Given the description of an element on the screen output the (x, y) to click on. 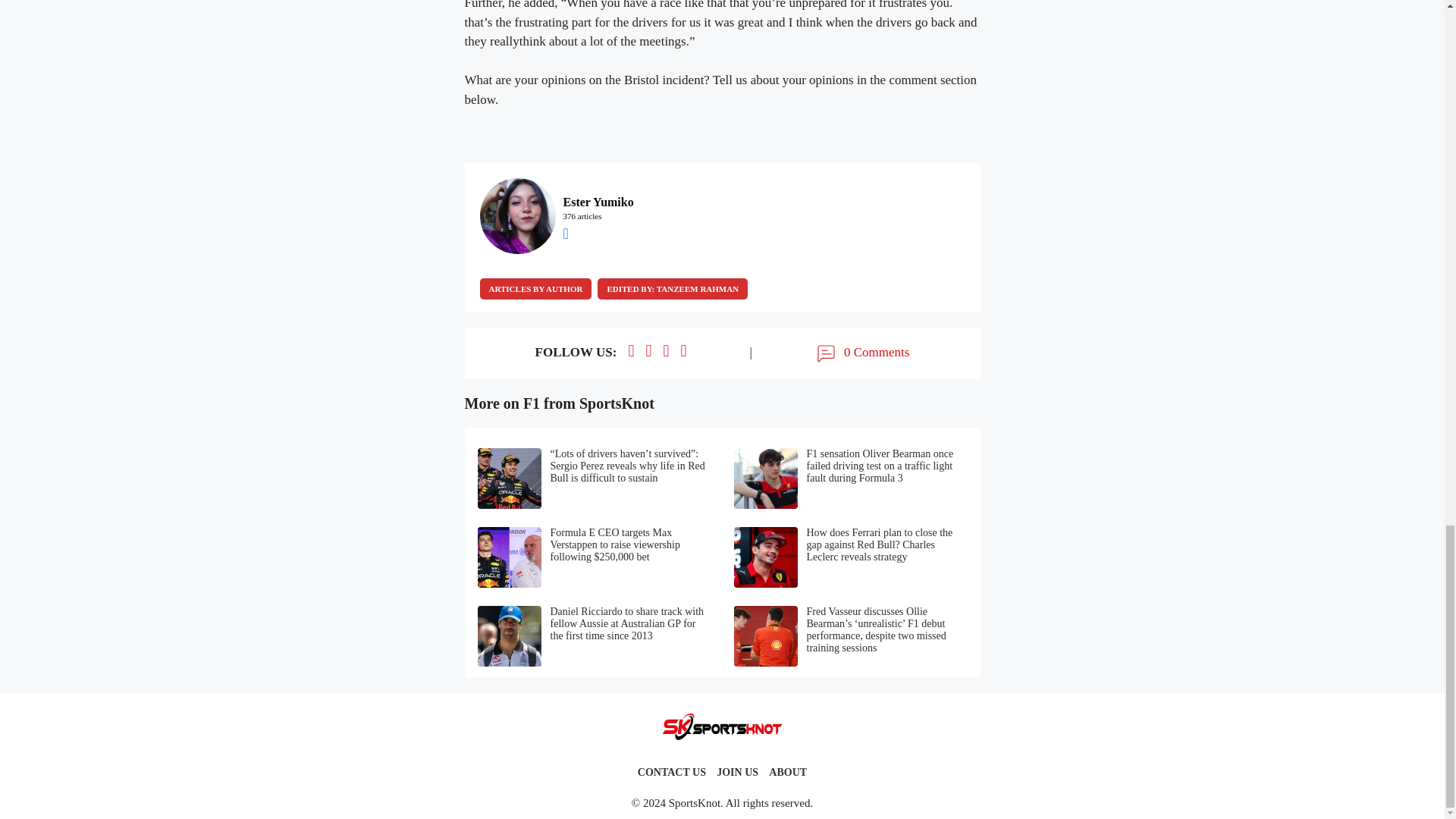
EDITED BY: TANZEEM RAHMAN (672, 288)
0 Comments (861, 353)
ARTICLES BY AUTHOR (535, 288)
